Given the description of an element on the screen output the (x, y) to click on. 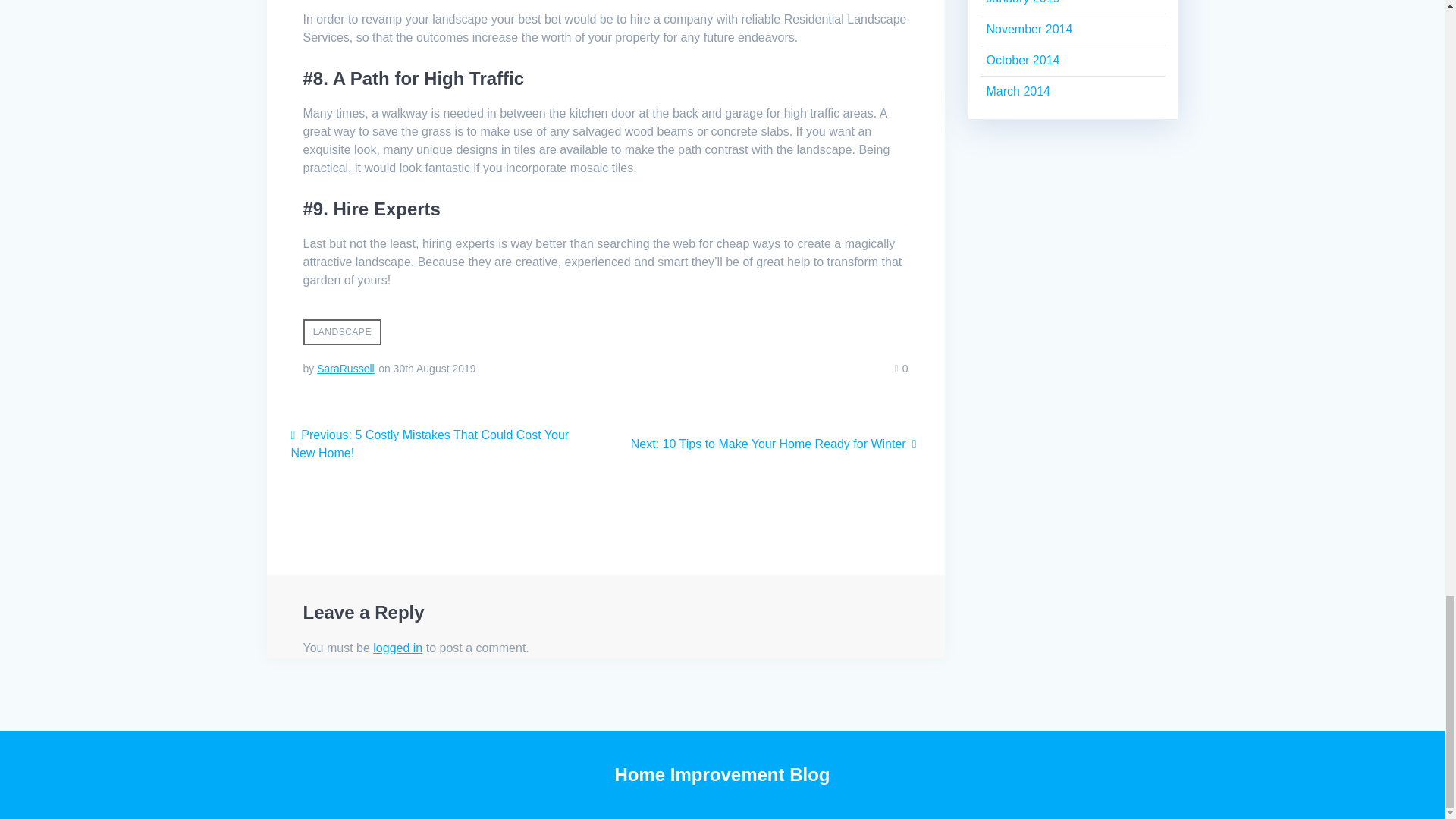
Posts by SaraRussell (345, 368)
SaraRussell (775, 443)
logged in (345, 368)
LANDSCAPE (397, 647)
